Given the description of an element on the screen output the (x, y) to click on. 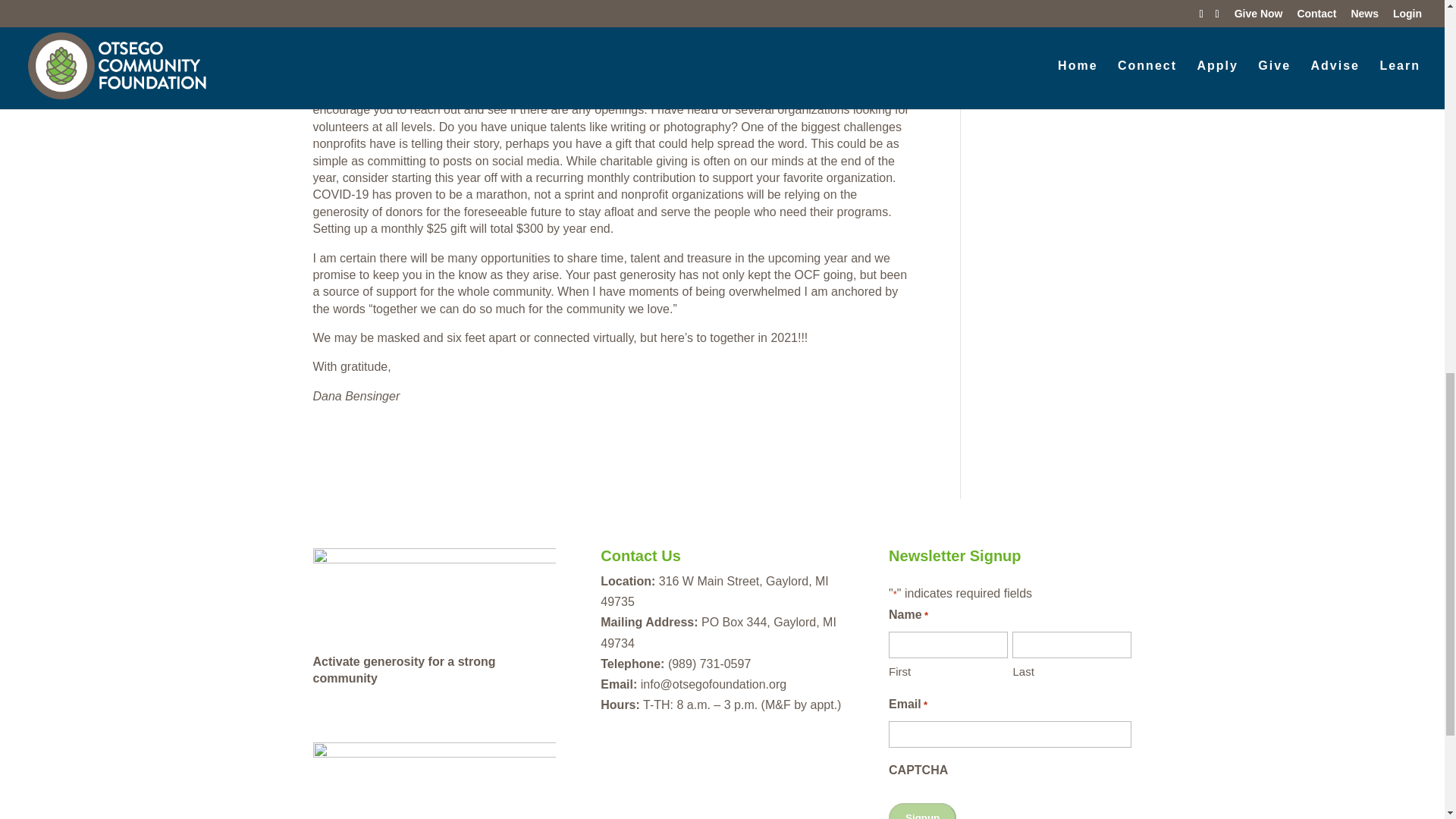
Tornado (1005, 51)
Scholarship (1015, 6)
Signup (922, 811)
Through the Archives (1040, 28)
Signup (922, 811)
Volunteer Spotlights (1037, 74)
